Given the description of an element on the screen output the (x, y) to click on. 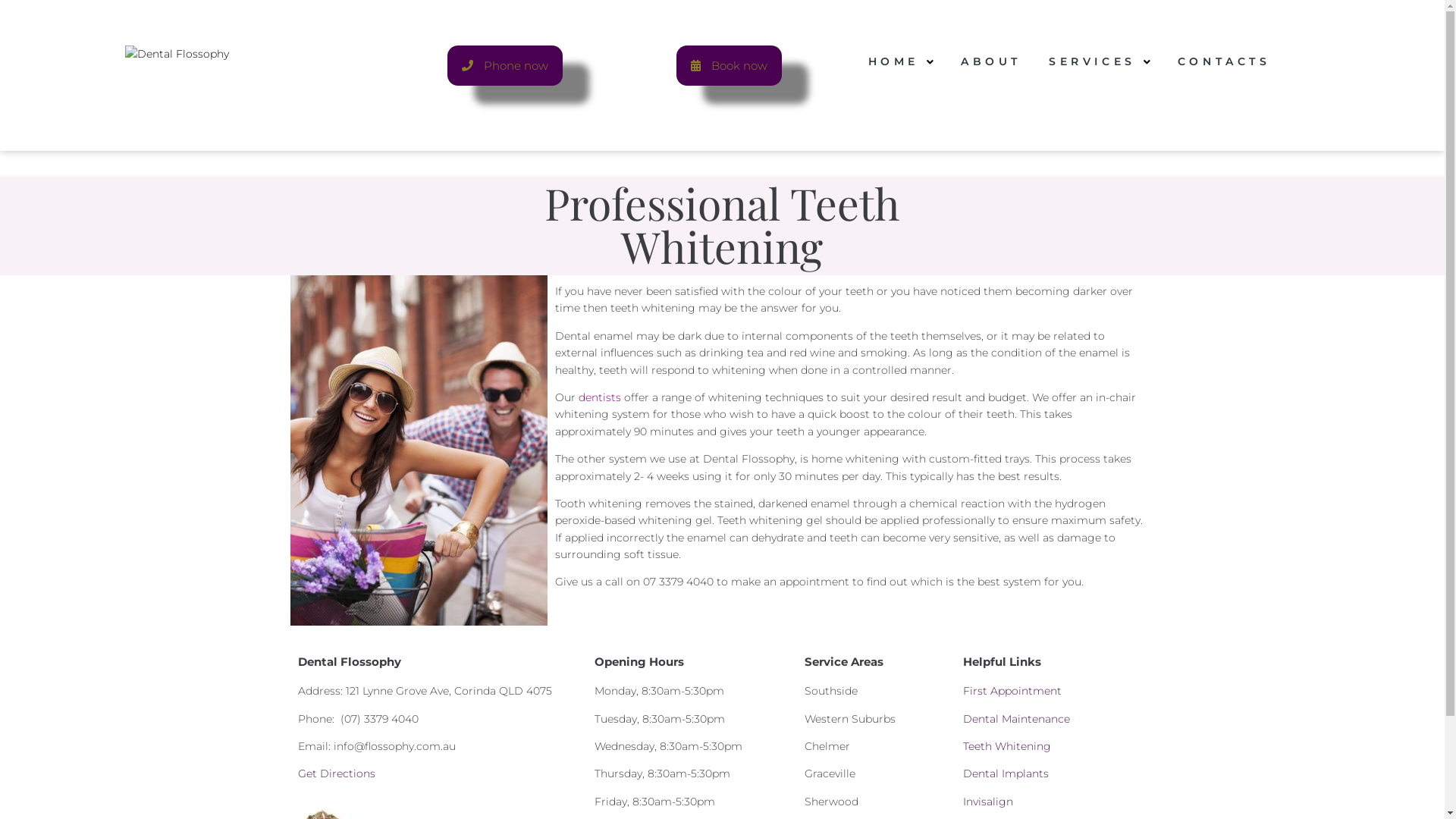
SERVICES Element type: text (1099, 61)
ABOUT Element type: text (990, 61)
Invisalign Element type: text (988, 801)
CONTACTS Element type: text (1223, 61)
Get Directions Element type: text (335, 773)
dentists Element type: text (599, 397)
Phone now Element type: text (504, 65)
First Appointment Element type: text (1012, 690)
Book now Element type: text (728, 65)
Dental Maintenance Element type: text (1016, 718)
Dental Implants Element type: text (1005, 773)
Teeth Whitening Element type: text (1007, 746)
HOME Element type: text (900, 61)
